Given the description of an element on the screen output the (x, y) to click on. 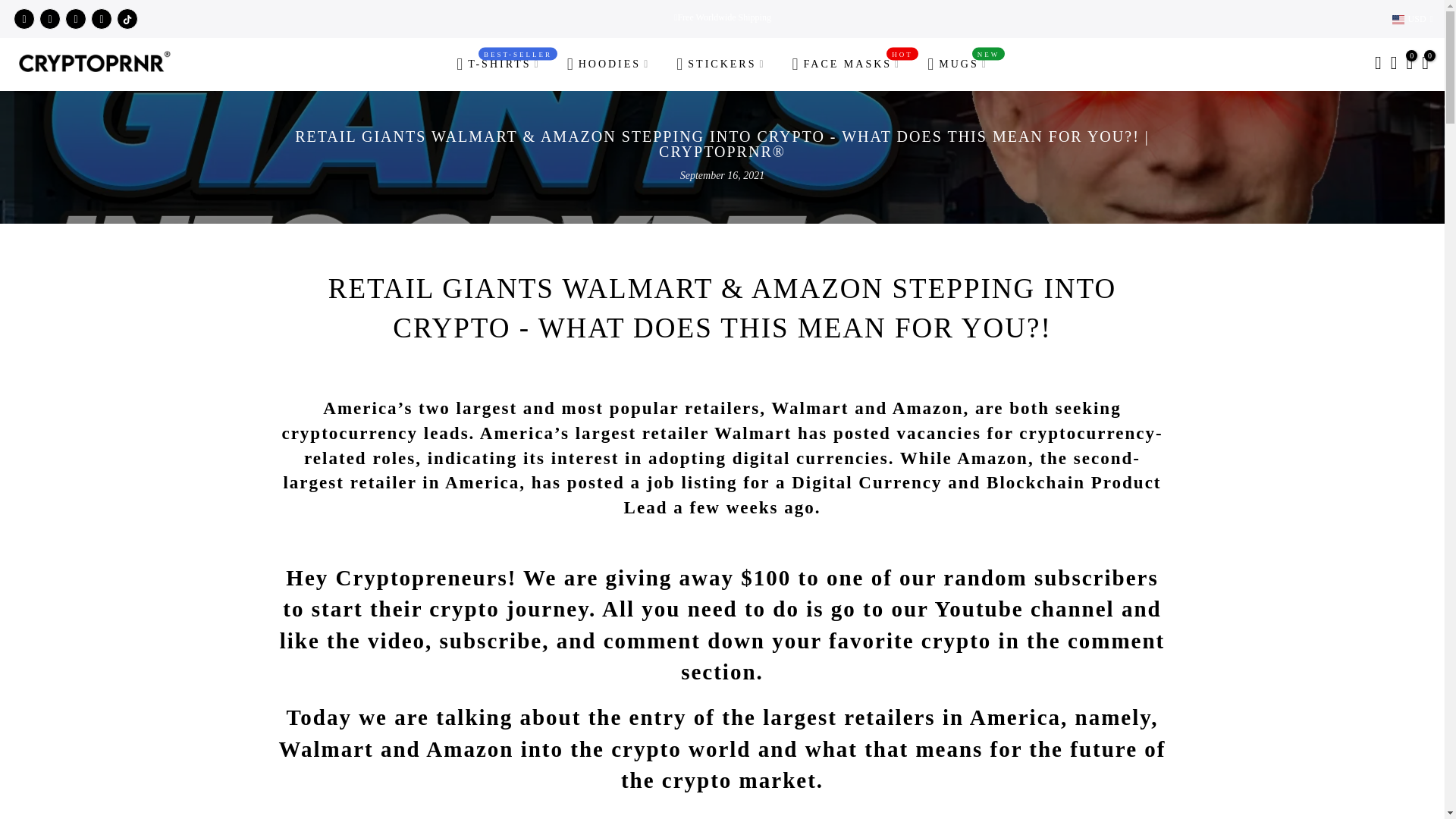
STICKERS (720, 63)
HOODIES (608, 63)
